Given the description of an element on the screen output the (x, y) to click on. 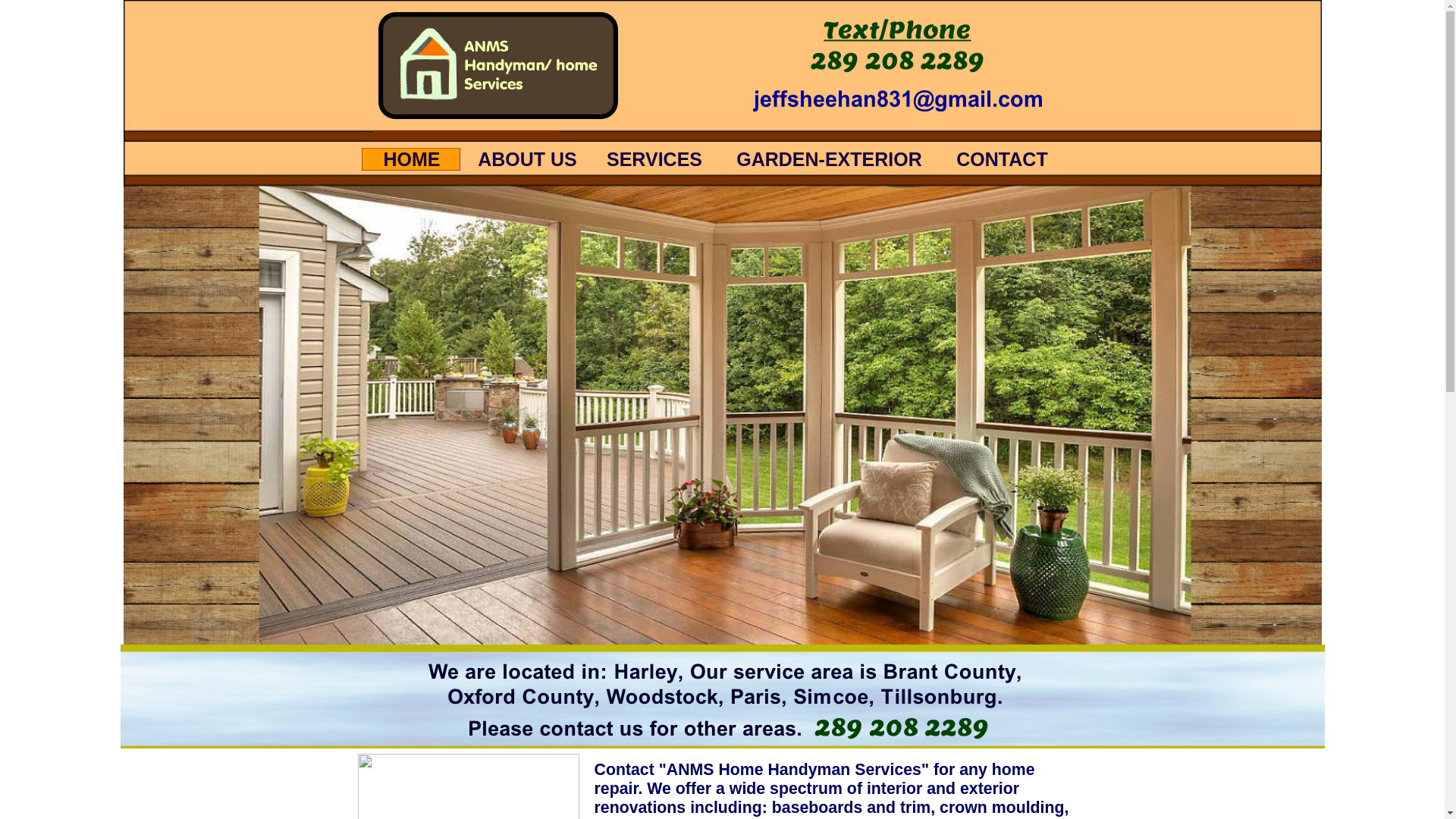
HOME Element type: text (409, 158)
GARDEN-EXTERIOR Element type: text (827, 158)
ABOUT US Element type: text (526, 158)
CONTACT Element type: text (1000, 158)
SERVICES Element type: text (653, 158)
